Given the description of an element on the screen output the (x, y) to click on. 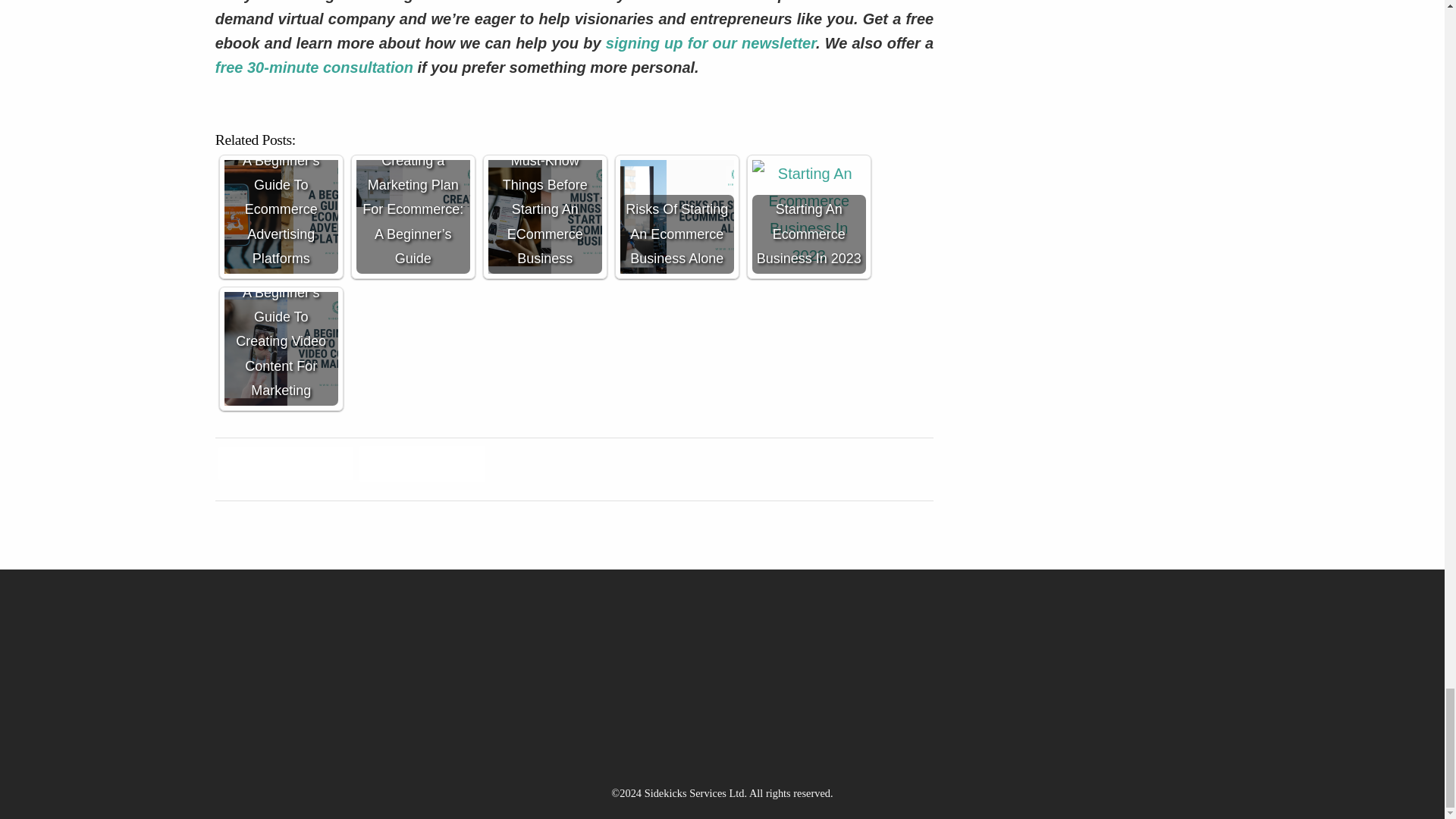
Facebook (285, 465)
Starting An Ecommerce Business In 2023 (809, 216)
free 30-minute consultation (314, 67)
Sidekicks (831, 1)
Must-Know Things Before Starting An ECommerce Business (544, 216)
signing up for our newsletter (708, 43)
Twitter (421, 465)
Facebook (285, 465)
Risks Of Starting An Ecommerce Business Alone (676, 216)
Twitter (421, 465)
